Given the description of an element on the screen output the (x, y) to click on. 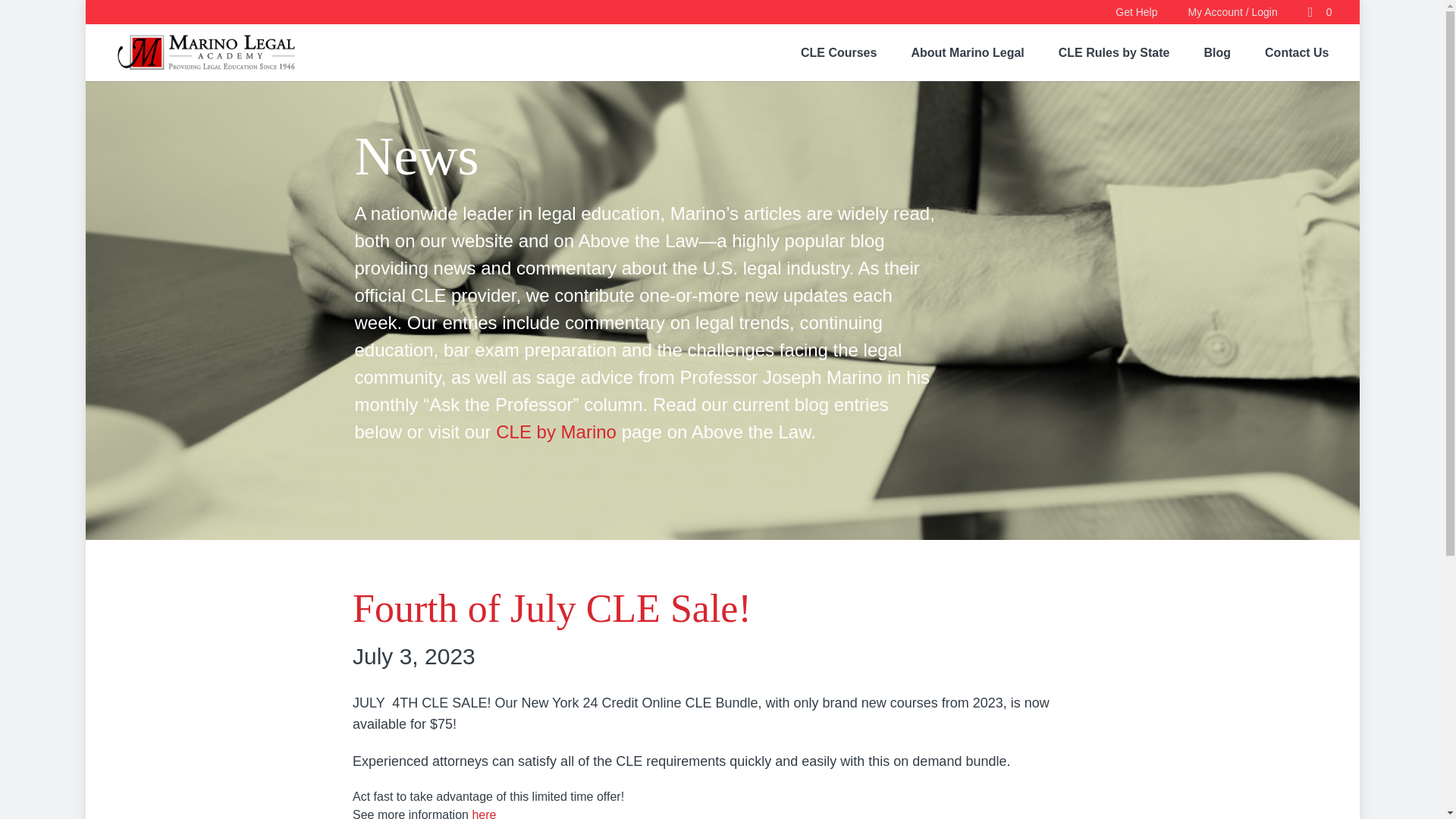
CLE Courses (838, 51)
Get Help (1136, 11)
About Marino Legal (967, 51)
CLE Rules by State (1114, 51)
